Given the description of an element on the screen output the (x, y) to click on. 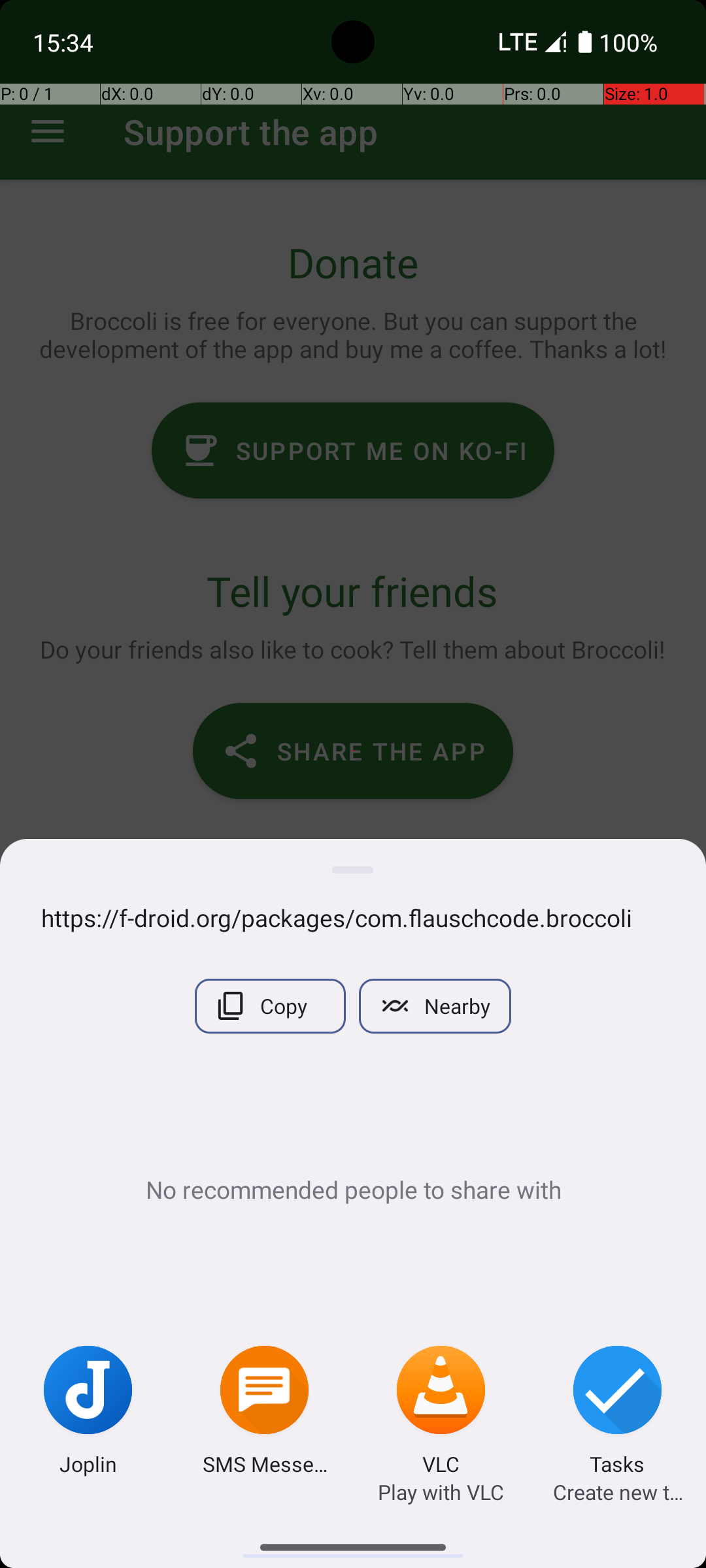
https://f-droid.org/packages/com.flauschcode.broccoli Element type: android.widget.TextView (352, 917)
Play with VLC Element type: android.widget.TextView (440, 1491)
